Given the description of an element on the screen output the (x, y) to click on. 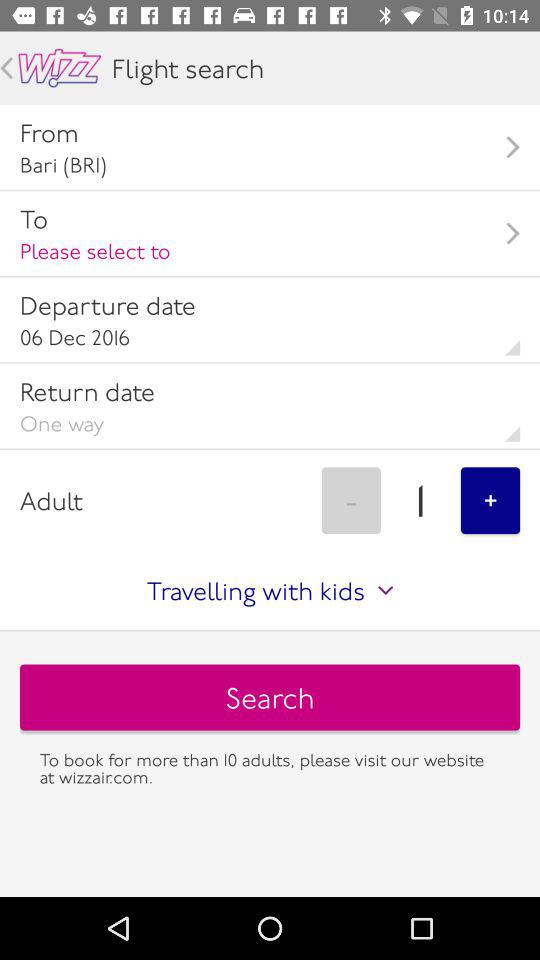
turn on the item to the right of the adult (351, 500)
